Given the description of an element on the screen output the (x, y) to click on. 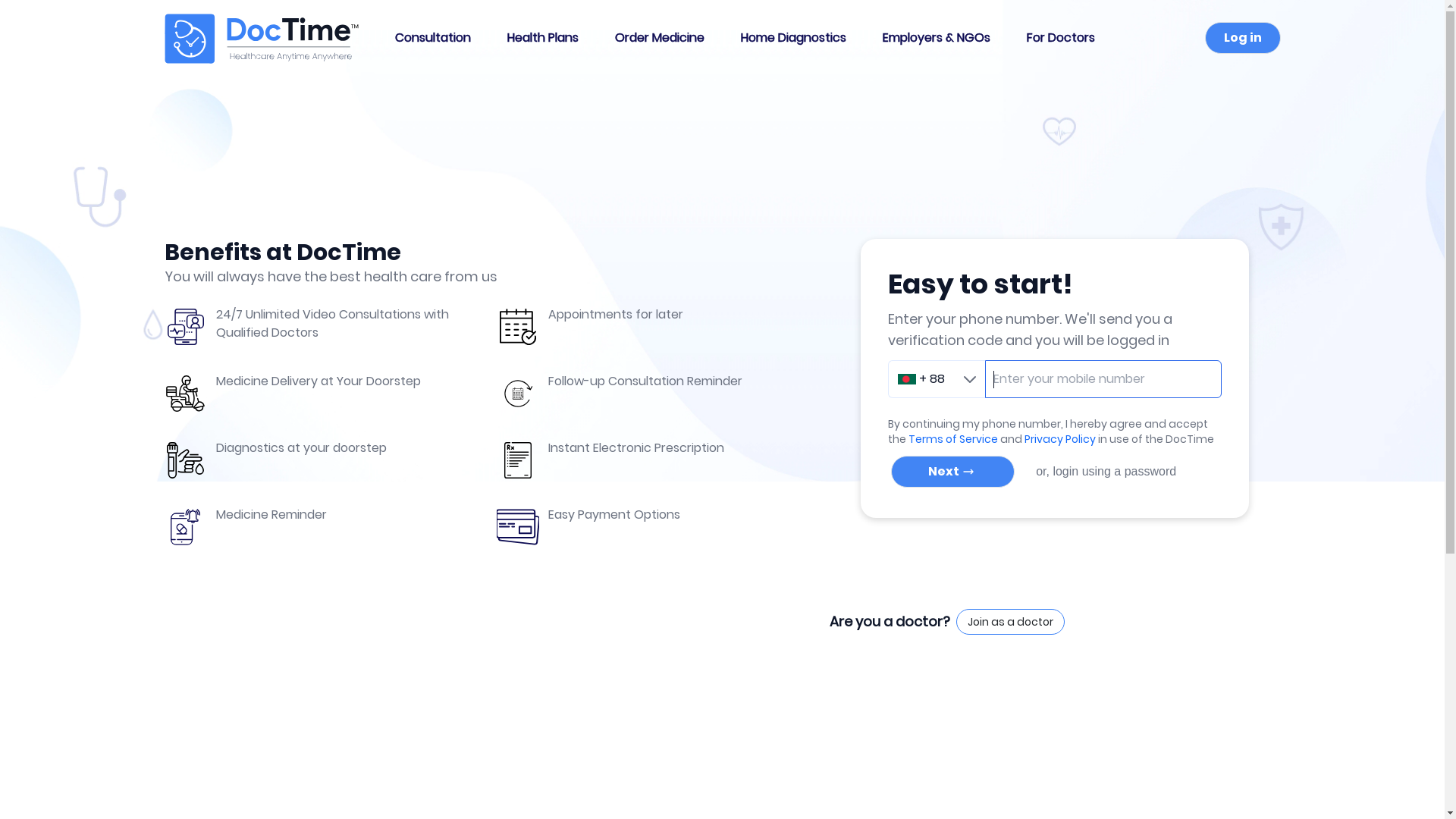
Health Plans Element type: text (541, 37)
Join as a doctor Element type: text (1010, 621)
Order Medicine Element type: text (658, 37)
For Doctors Element type: text (1060, 37)
Log in Element type: text (1242, 37)
Privacy Policy Element type: text (1059, 438)
Employers & NGOs Element type: text (936, 37)
Next Element type: text (952, 471)
or, login using a password Element type: text (1105, 470)
Consultation Element type: text (432, 37)
Terms of Service Element type: text (952, 438)
Home Diagnostics Element type: text (792, 37)
